Given the description of an element on the screen output the (x, y) to click on. 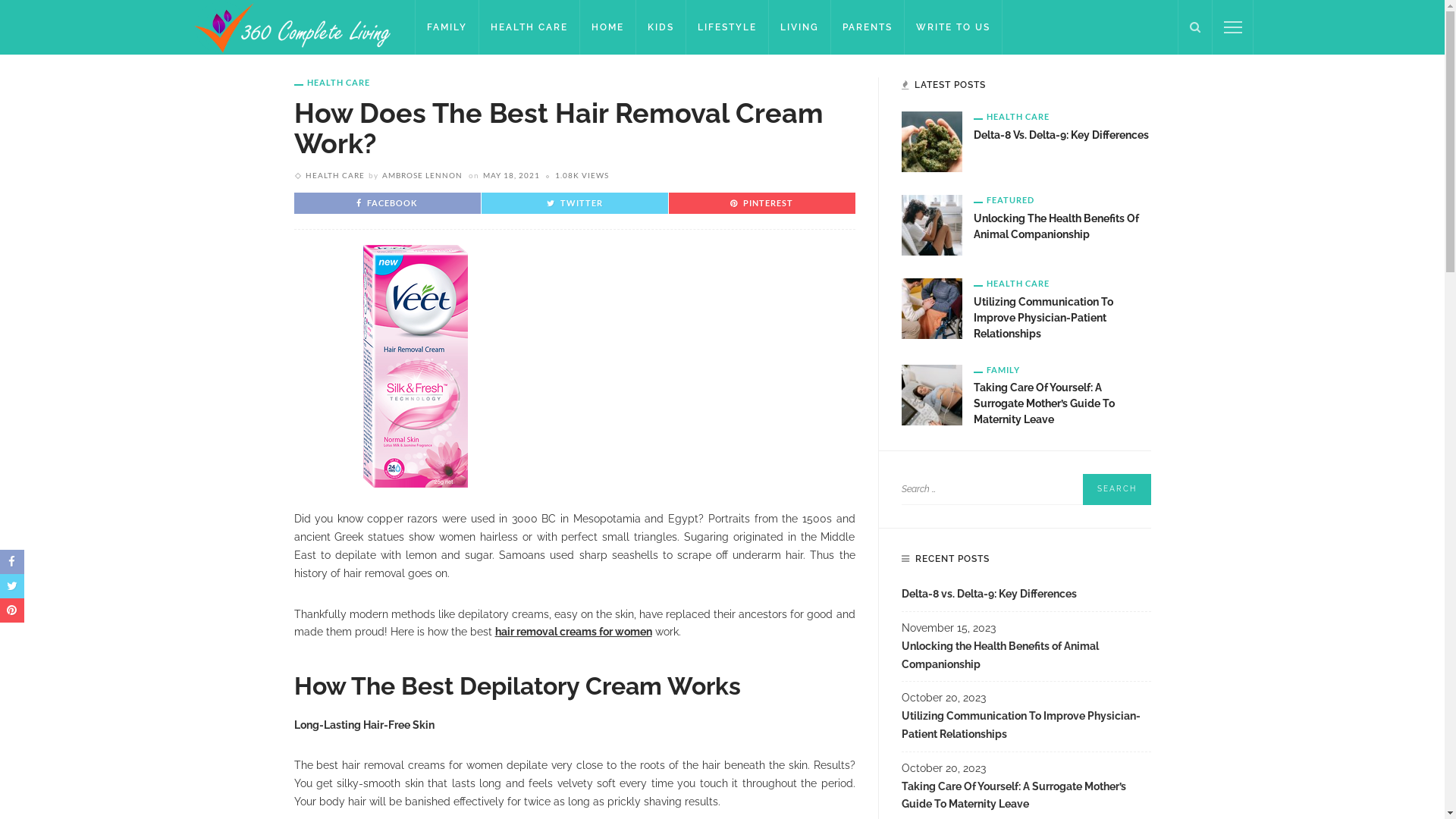
FACEBOOK Element type: text (386, 202)
Unlocking the Health Benefits of Animal Companionship Element type: hover (930, 224)
HEALTH CARE Element type: text (334, 174)
AMBROSE LENNON Element type: text (422, 174)
Delta-8 Vs. Delta-9: Key Differences Element type: text (1060, 134)
PARENTS Element type: text (867, 27)
HEALTH CARE Element type: text (332, 82)
HOME Element type: text (608, 27)
Delta-8 vs. Delta-9: Key Differences Element type: hover (930, 140)
FEATURED Element type: text (1003, 199)
hair removal creams for women Element type: text (572, 631)
KIDS Element type: text (661, 27)
Delta-8 vs. Delta-9: Key Differences Element type: text (1025, 598)
FAMILY Element type: text (996, 369)
PINTEREST Element type: text (761, 202)
WRITE TO US Element type: text (953, 27)
FAMILY Element type: text (446, 27)
1.08K VIEWS Element type: text (581, 174)
HEALTH CARE Element type: text (1011, 283)
Unlocking The Health Benefits Of Animal Companionship Element type: text (1056, 226)
HEALTH CARE Element type: text (1011, 116)
HEALTH CARE Element type: text (529, 27)
LIFESTYLE Element type: text (727, 27)
Search Element type: text (1116, 489)
TWITTER Element type: text (574, 202)
Unlocking the Health Benefits of Animal Companionship Element type: text (1025, 659)
LIVING Element type: text (799, 27)
